Given the description of an element on the screen output the (x, y) to click on. 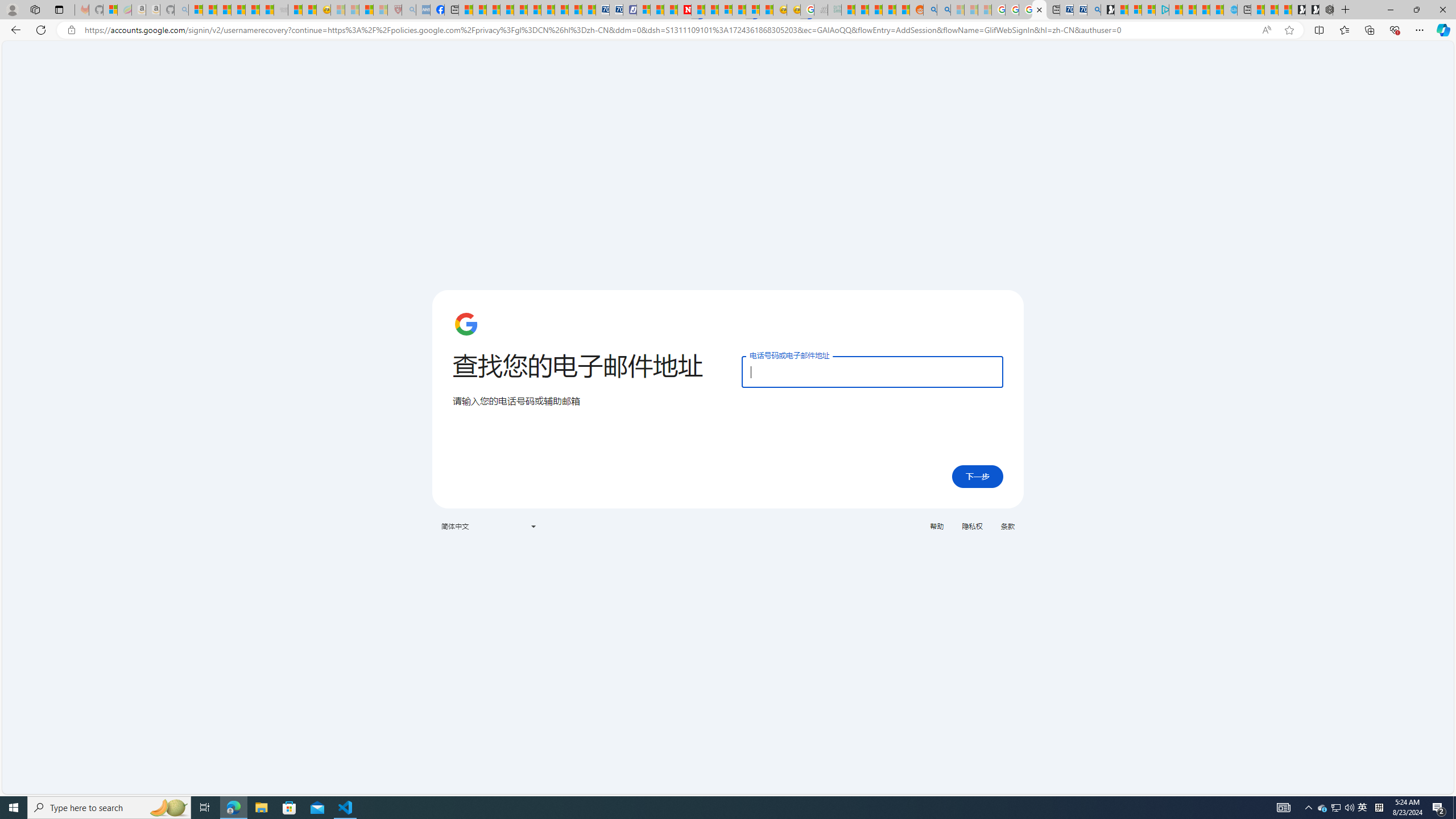
World - MSN (493, 9)
Class: VfPpkd-t08AT-Bz112c-Bd00G (532, 526)
